Given the description of an element on the screen output the (x, y) to click on. 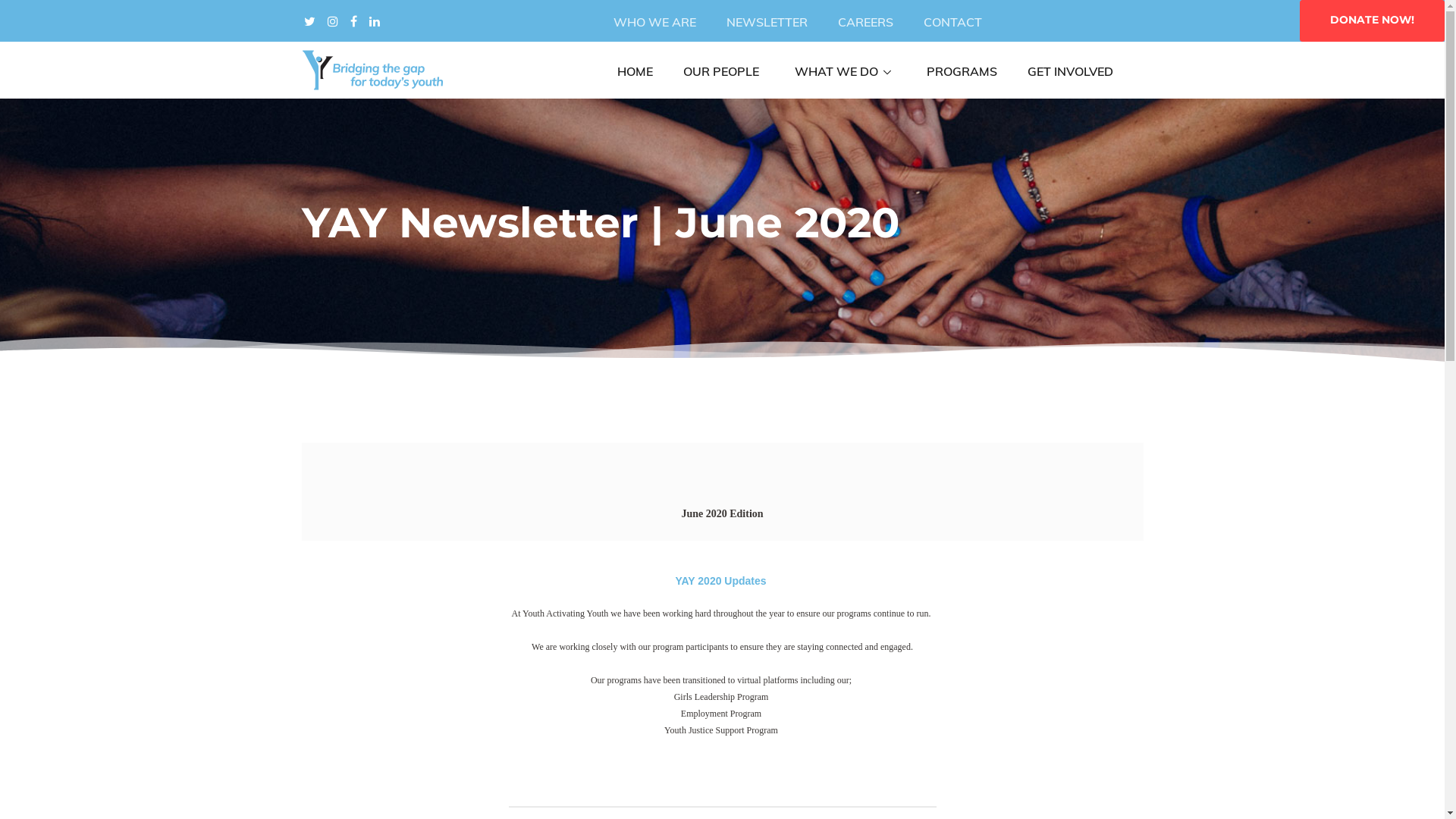
CONTACT Element type: text (952, 22)
WHO WE ARE Element type: text (654, 22)
HOME
(CURRENT) Element type: text (634, 71)
PROGRAMS Element type: text (961, 71)
NEWSLETTER Element type: text (766, 22)
DONATE NOW! Element type: text (1371, 20)
WHAT WE DO Element type: text (842, 71)
CAREERS Element type: text (865, 22)
GET INVOLVED Element type: text (1070, 71)
OUR PEOPLE Element type: text (721, 71)
